Given the description of an element on the screen output the (x, y) to click on. 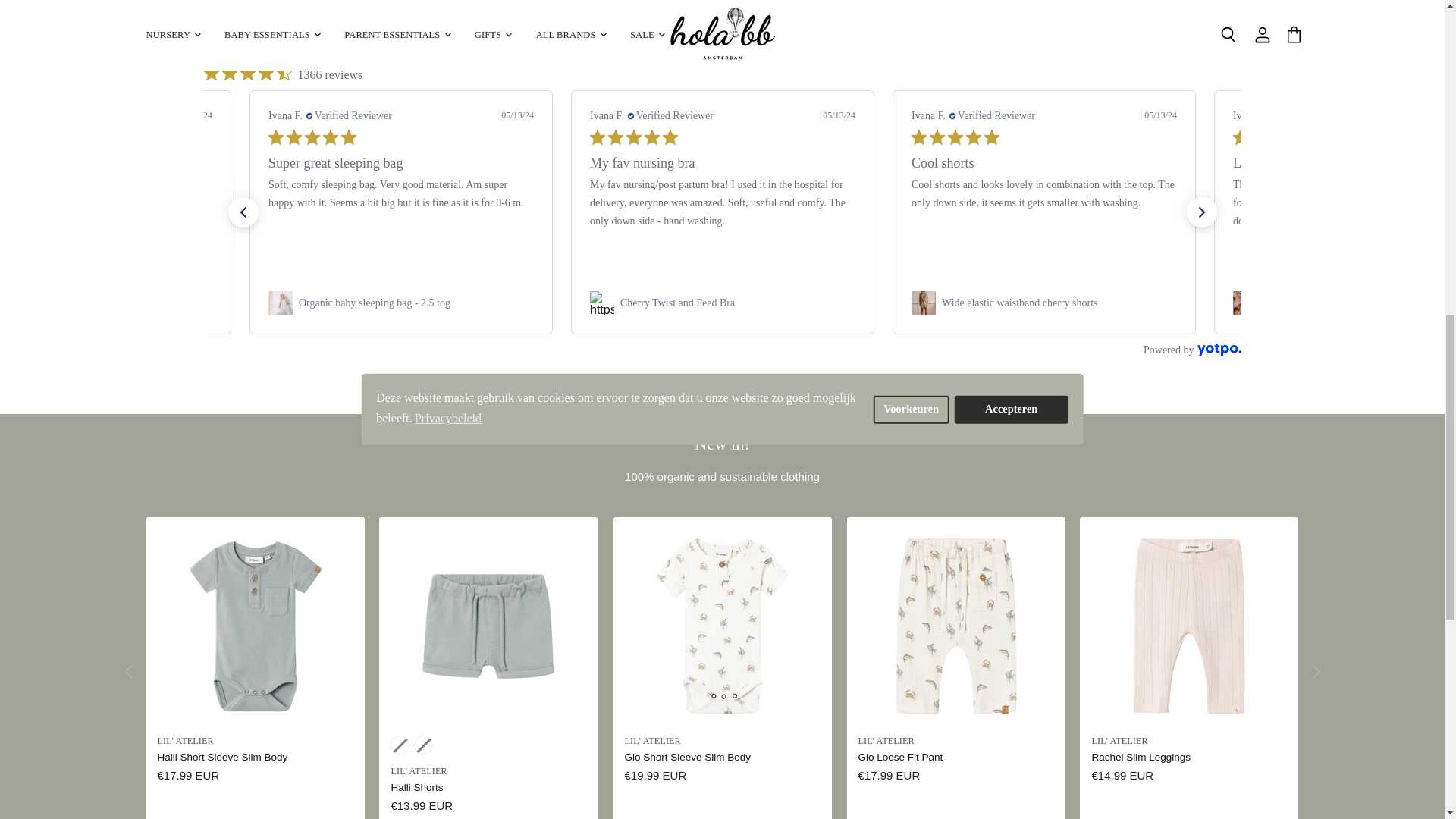
Wide elastic waistband cherry shorts (1019, 303)
Cherry Twist and Feed Bra (677, 303)
Organic baby sleeping bag - 2.5 tog (373, 303)
